Given the description of an element on the screen output the (x, y) to click on. 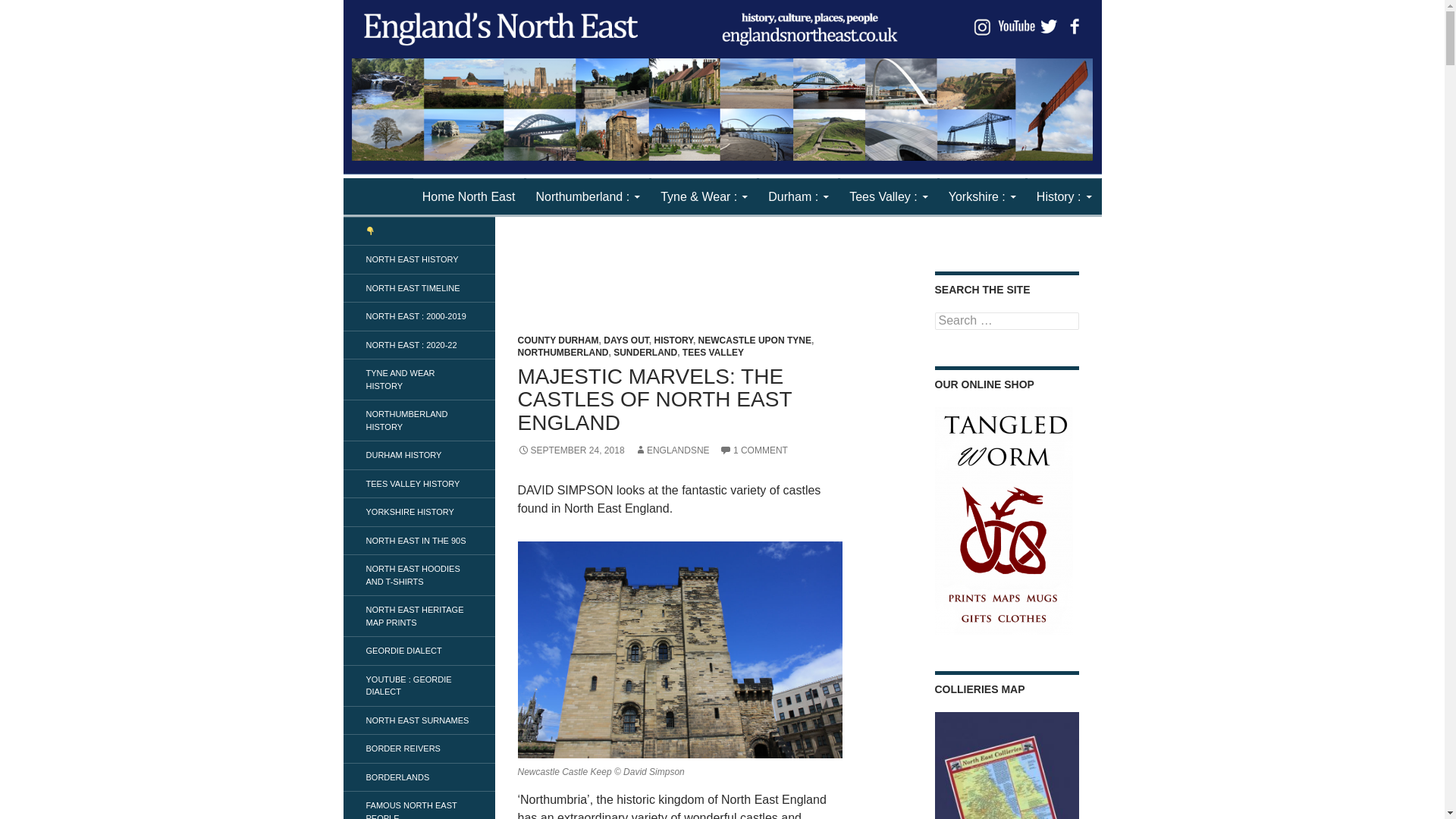
Our Online Shop (1002, 520)
Northumberland : (587, 197)
Home North East (468, 197)
North East Collieries (1006, 765)
England's North East (433, 196)
